Given the description of an element on the screen output the (x, y) to click on. 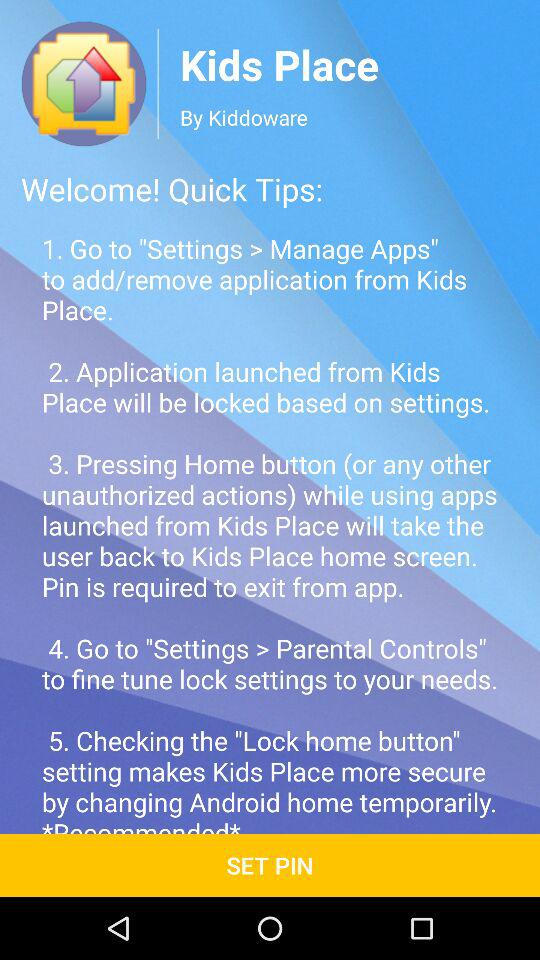
scroll to the set pin icon (270, 864)
